Given the description of an element on the screen output the (x, y) to click on. 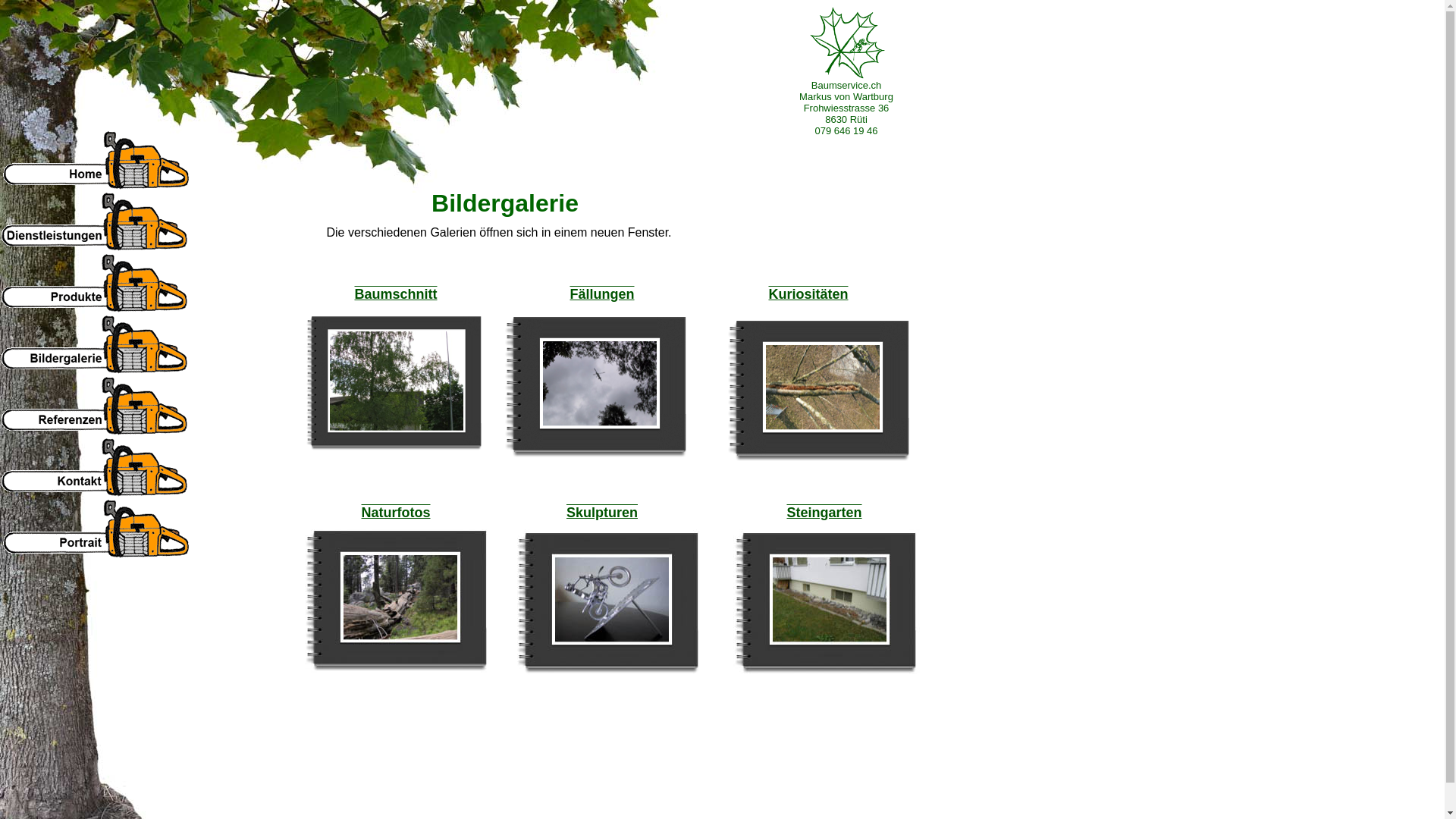
Skulpturen Element type: text (601, 512)
Baumschnitt Element type: text (395, 293)
Steingarten Element type: text (823, 512)
Naturfotos Element type: text (394, 512)
